Given the description of an element on the screen output the (x, y) to click on. 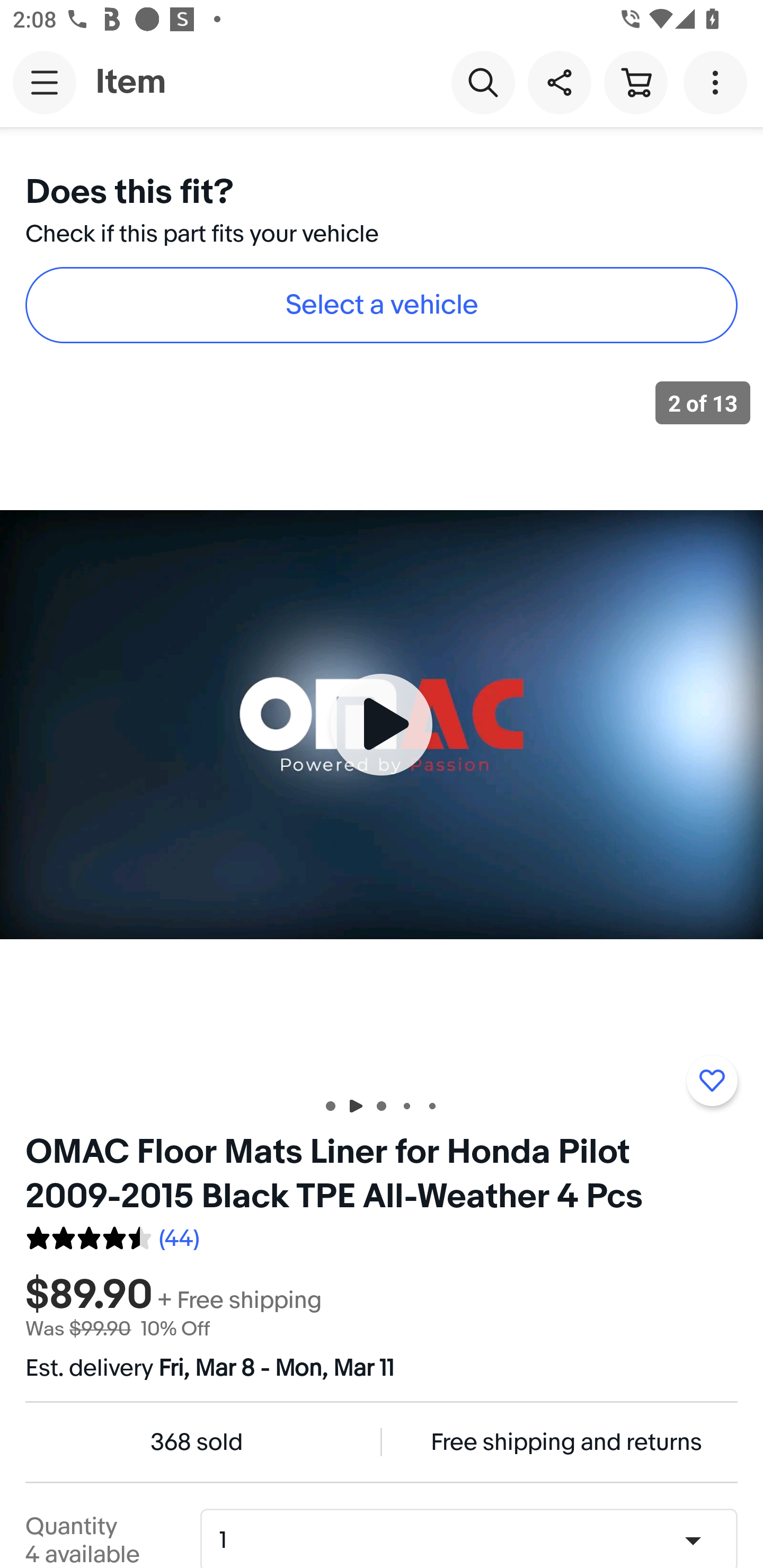
Main navigation, open (44, 82)
Search (482, 81)
Share this item (559, 81)
Cart button shopping cart (635, 81)
More options (718, 81)
Select a vehicle (381, 304)
Item image 2 of 13, plays video (381, 724)
Add to watchlist (711, 1080)
Quantity,1,4 available 1 (474, 1540)
